Given the description of an element on the screen output the (x, y) to click on. 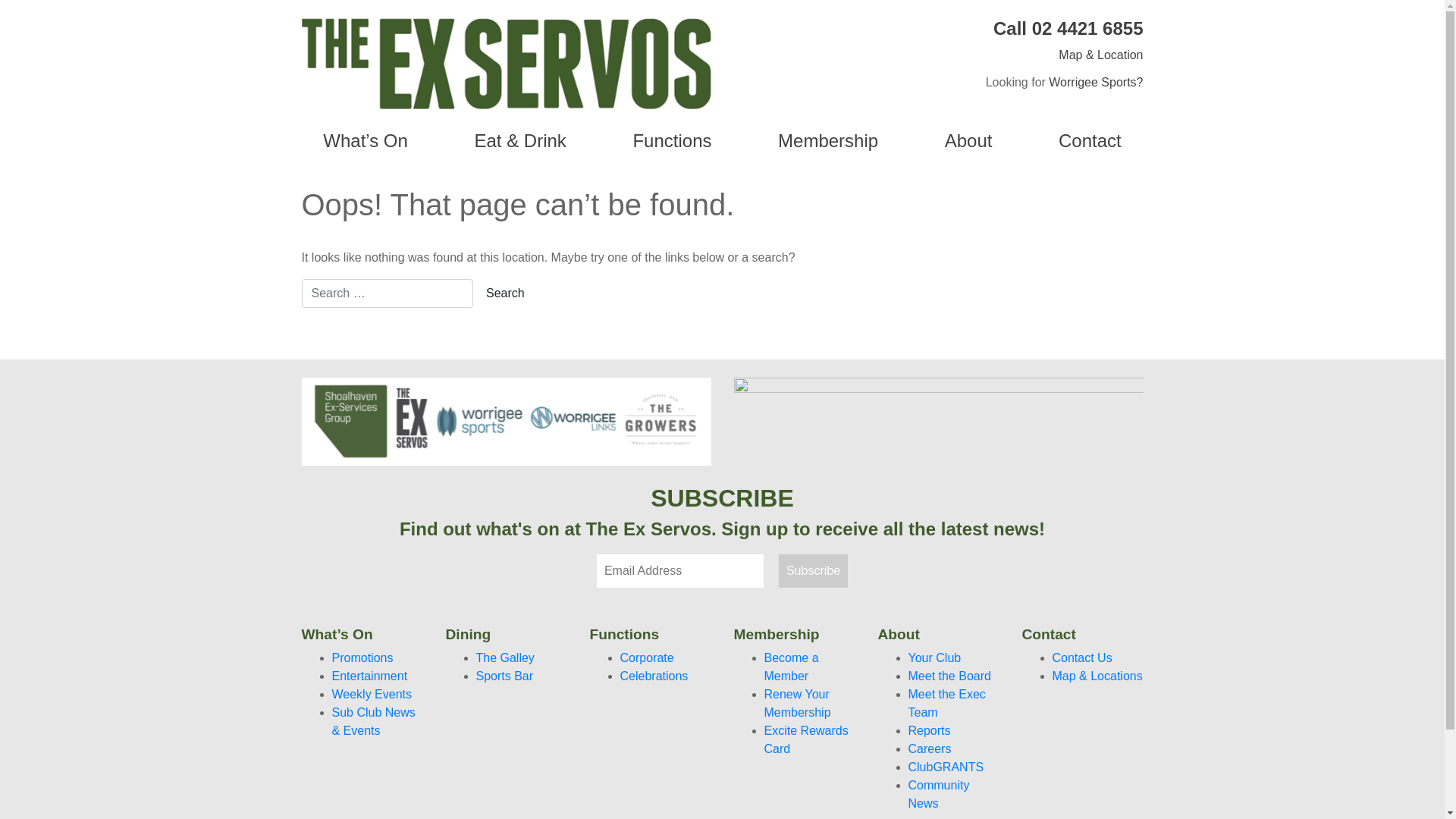
Search for: Element type: hover (387, 293)
Become a Member Element type: text (791, 666)
Search Element type: text (505, 293)
Your Club Element type: text (934, 657)
Careers Element type: text (929, 748)
Contact Us Element type: text (1082, 657)
Sports Bar Element type: text (504, 675)
Eat & Drink Element type: text (520, 140)
Community News Element type: text (938, 793)
About Element type: text (968, 140)
ClubGRANTS Element type: text (946, 766)
Reports Element type: text (929, 730)
Celebrations Element type: text (654, 675)
Skip to content Element type: text (0, 0)
Weekly Events Element type: text (372, 693)
Functions Element type: text (672, 140)
Entertainment Element type: text (369, 675)
Meet the Exec Team Element type: text (946, 702)
Excite Rewards Card Element type: text (806, 739)
Renew Your Membership Element type: text (797, 702)
Corporate Element type: text (647, 657)
02 4421 6855 Element type: text (1087, 28)
Meet the Board Element type: text (949, 675)
Footer Banner 1 - TITLE NOT VISIBLE Element type: hover (506, 421)
Worrigee Sports? Element type: text (1095, 81)
Promotions Element type: text (362, 657)
Map & Locations Element type: text (1097, 675)
Map & Location Element type: text (1100, 54)
Membership Element type: text (827, 140)
Subscribe Element type: text (812, 570)
Sub Club News & Events Element type: text (373, 721)
Contact Element type: text (1089, 140)
The Galley Element type: text (505, 657)
